Given the description of an element on the screen output the (x, y) to click on. 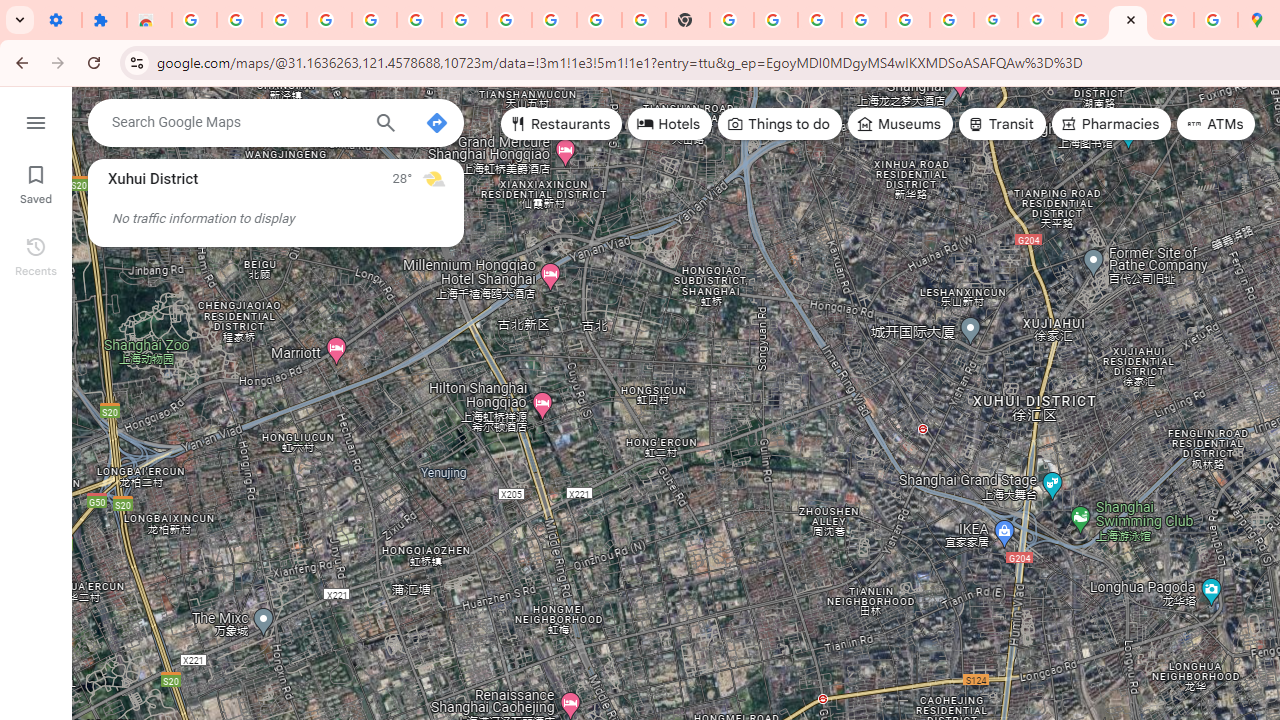
Google Account (554, 20)
Safety in Our Products - Google Safety Center (1215, 20)
Hotels (670, 124)
Reviews: Helix Fruit Jump Arcade Game (148, 20)
Museums (900, 124)
Directions (436, 122)
Sign in - Google Accounts (194, 20)
https://scholar.google.com/ (731, 20)
